Given the description of an element on the screen output the (x, y) to click on. 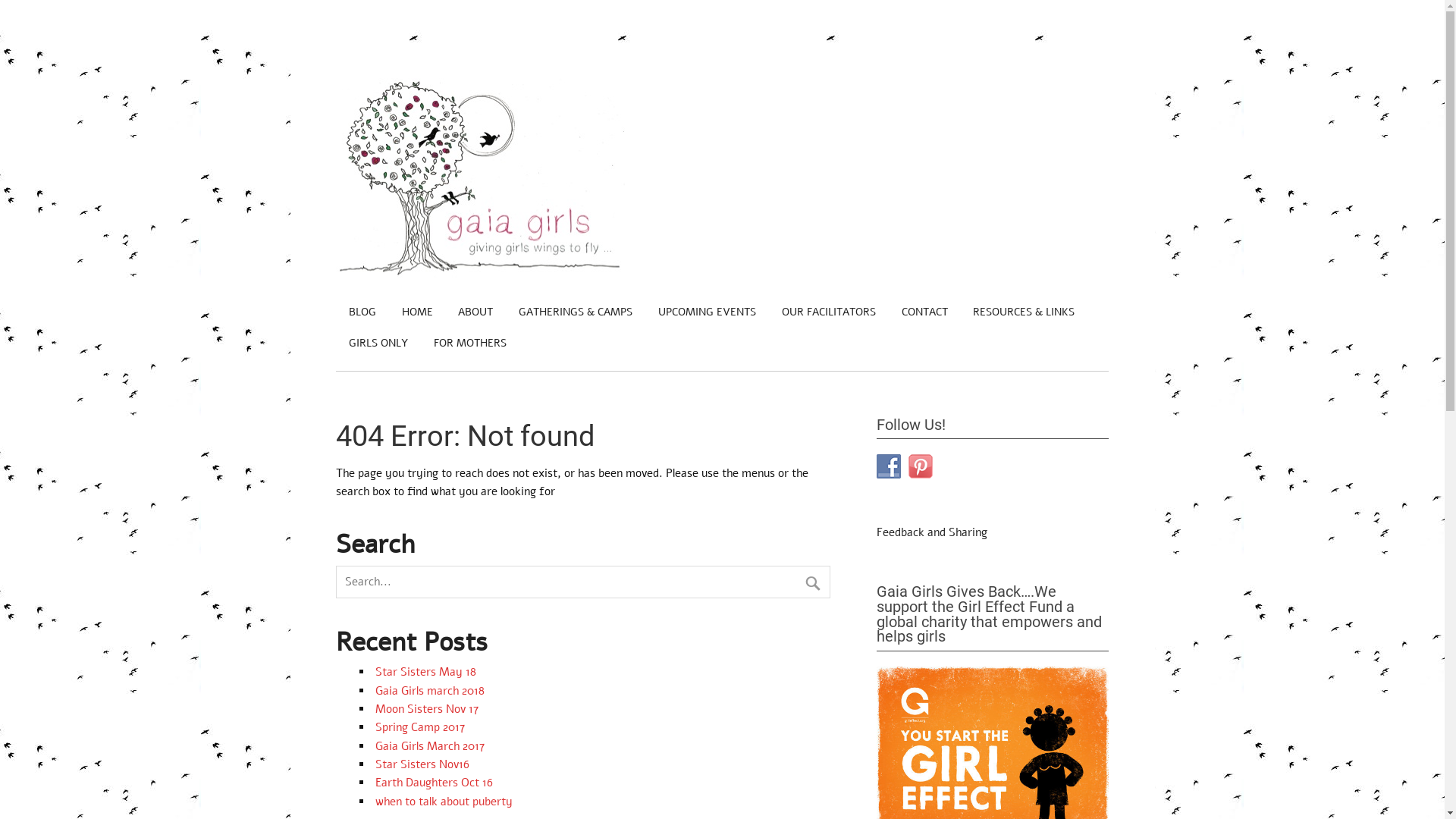
Gaia Girls March 2017 Element type: text (429, 745)
ABOUT Element type: text (475, 312)
Spring Camp 2017 Element type: text (419, 726)
RESOURCES & LINKS Element type: text (1023, 312)
OUR FACILITATORS Element type: text (828, 312)
Gaia Girls Element type: hover (479, 273)
Gaia Girls march 2018 Element type: text (429, 690)
HOME Element type: text (417, 312)
BLOG Element type: text (361, 312)
GATHERINGS & CAMPS Element type: text (575, 312)
Follow Us on Facebook Element type: hover (888, 466)
Moon Sisters Nov 17 Element type: text (426, 708)
Star Sisters May 18 Element type: text (425, 671)
Earth Daughters Oct 16 Element type: text (433, 782)
CONTACT Element type: text (924, 312)
Star Sisters Nov16 Element type: text (422, 763)
when to talk about puberty Element type: text (443, 801)
GIRLS ONLY Element type: text (377, 343)
UPCOMING EVENTS Element type: text (707, 312)
Follow Us on Pinterest Element type: hover (920, 466)
FOR MOTHERS Element type: text (469, 343)
